Given the description of an element on the screen output the (x, y) to click on. 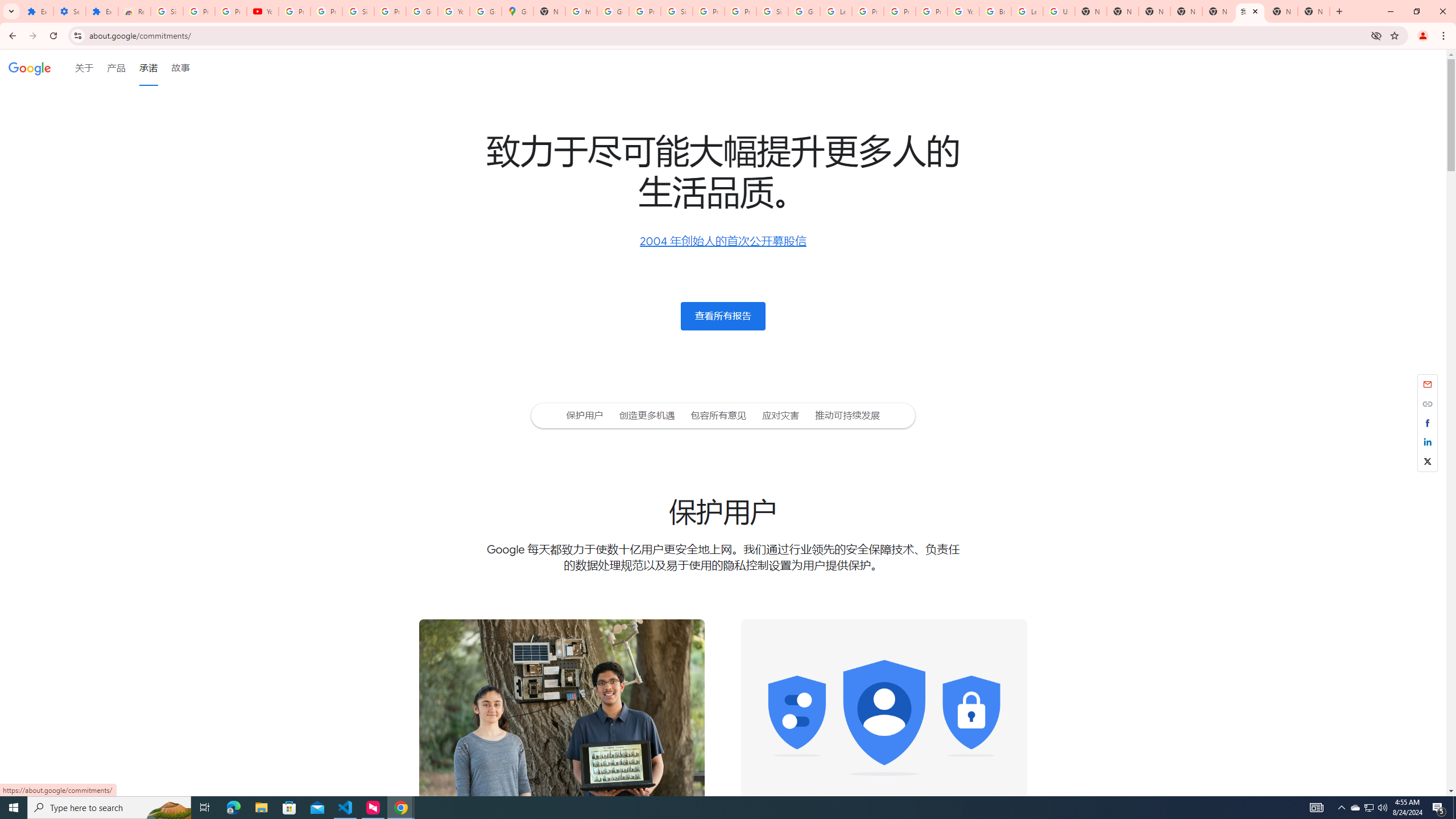
Privacy Help Center - Policies Help (899, 11)
https://scholar.google.com/ (581, 11)
